Given the description of an element on the screen output the (x, y) to click on. 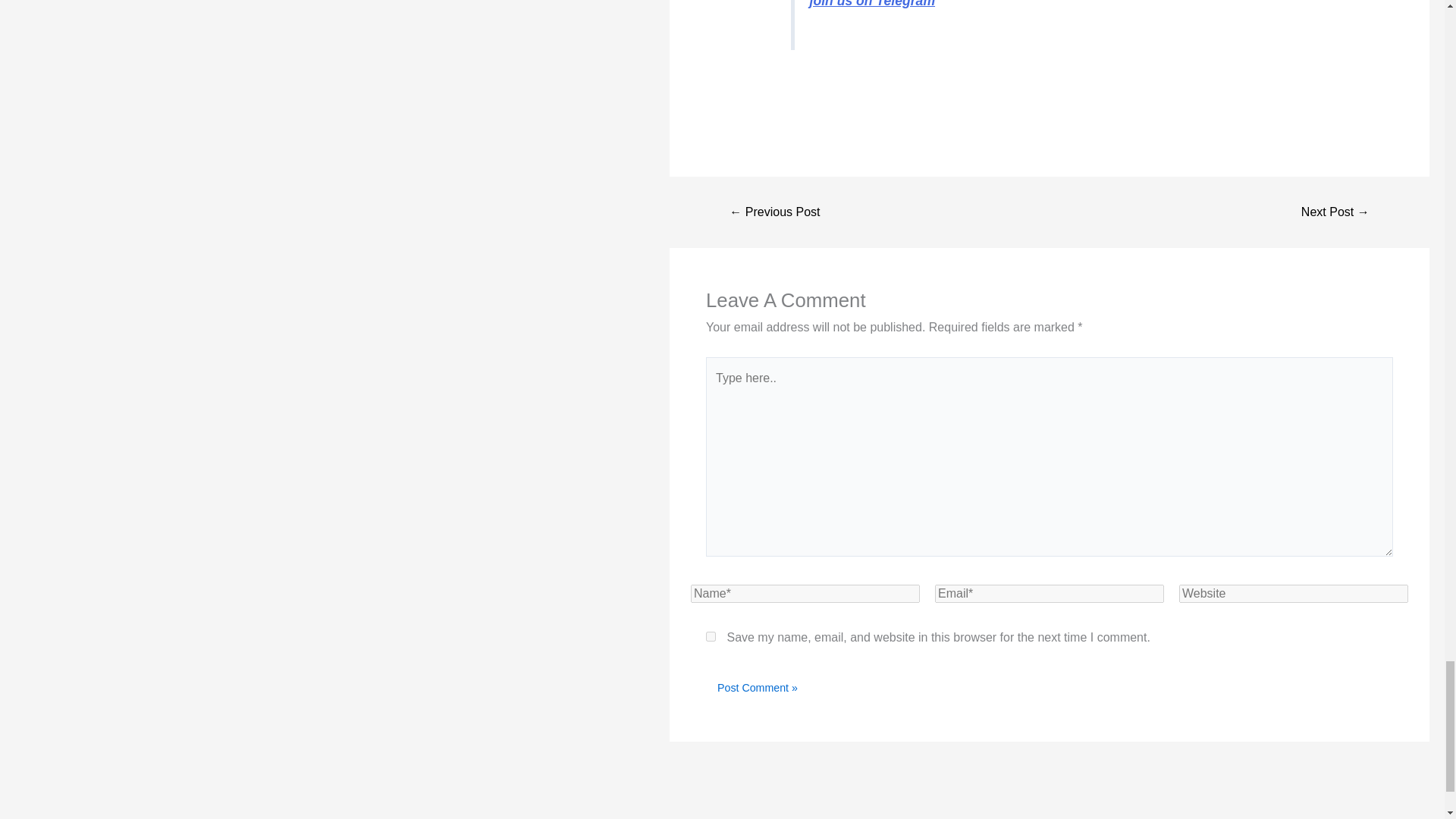
Midwife - Samaritan's Purse Vacancy Announcement (1334, 212)
Registration Nurse - Samaritan's Purse Vacancy Announcement (774, 212)
yes (711, 636)
